Given the description of an element on the screen output the (x, y) to click on. 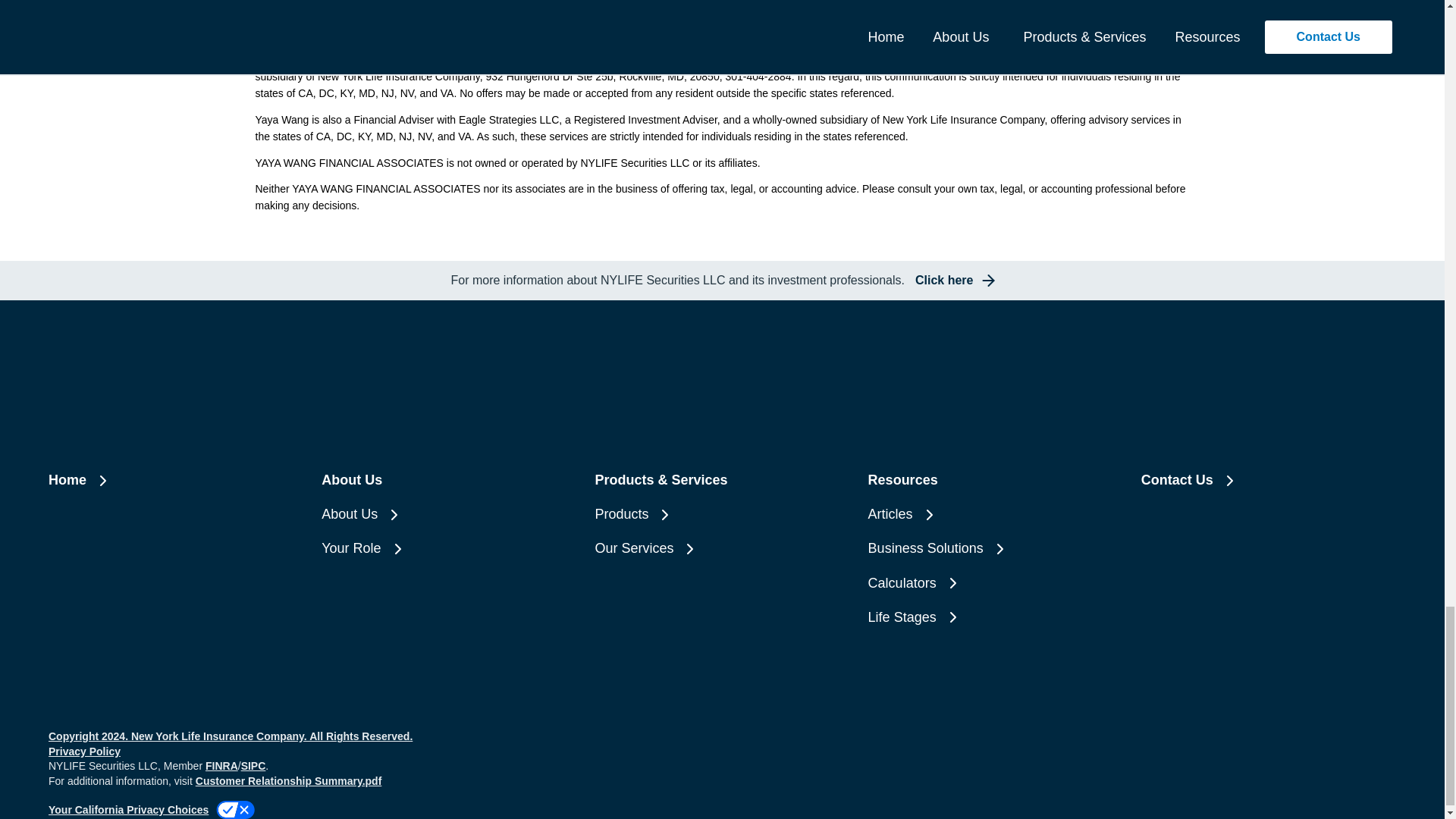
Your Role (448, 547)
Privacy Policy (84, 751)
About Us (448, 514)
SIPC (907, 60)
About Us (448, 479)
Our Services (721, 547)
Resources (994, 479)
SIPC (253, 766)
Home (175, 479)
Business Solutions (994, 547)
Contact Us (1268, 479)
here (403, 38)
About Us (448, 514)
FINRA (876, 60)
